Given the description of an element on the screen output the (x, y) to click on. 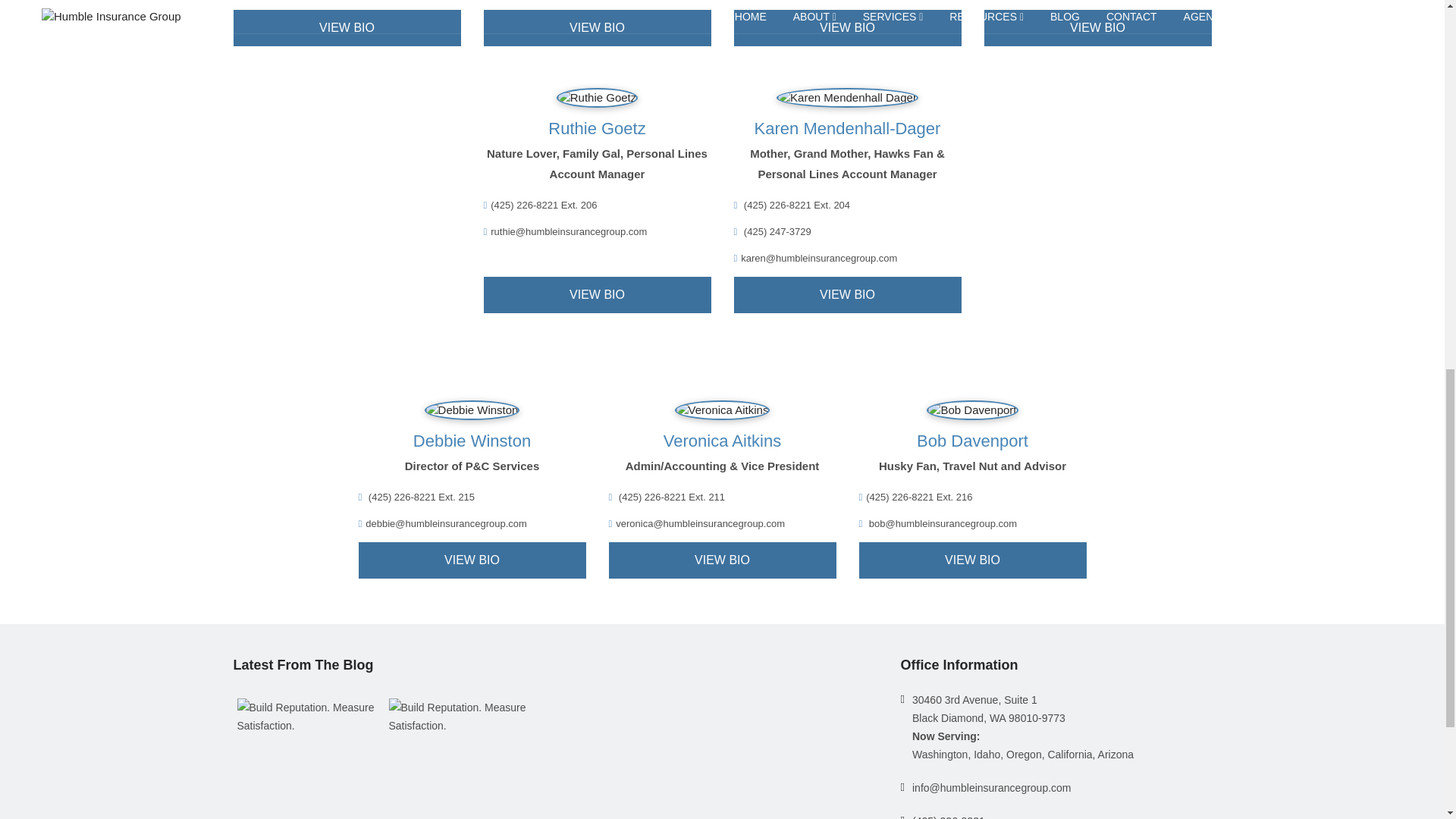
VIEW BIO (1097, 27)
VIEW BIO (846, 27)
VIEW BIO (846, 294)
VIEW BIO (597, 27)
VIEW BIO (597, 294)
VIEW BIO (346, 27)
